Given the description of an element on the screen output the (x, y) to click on. 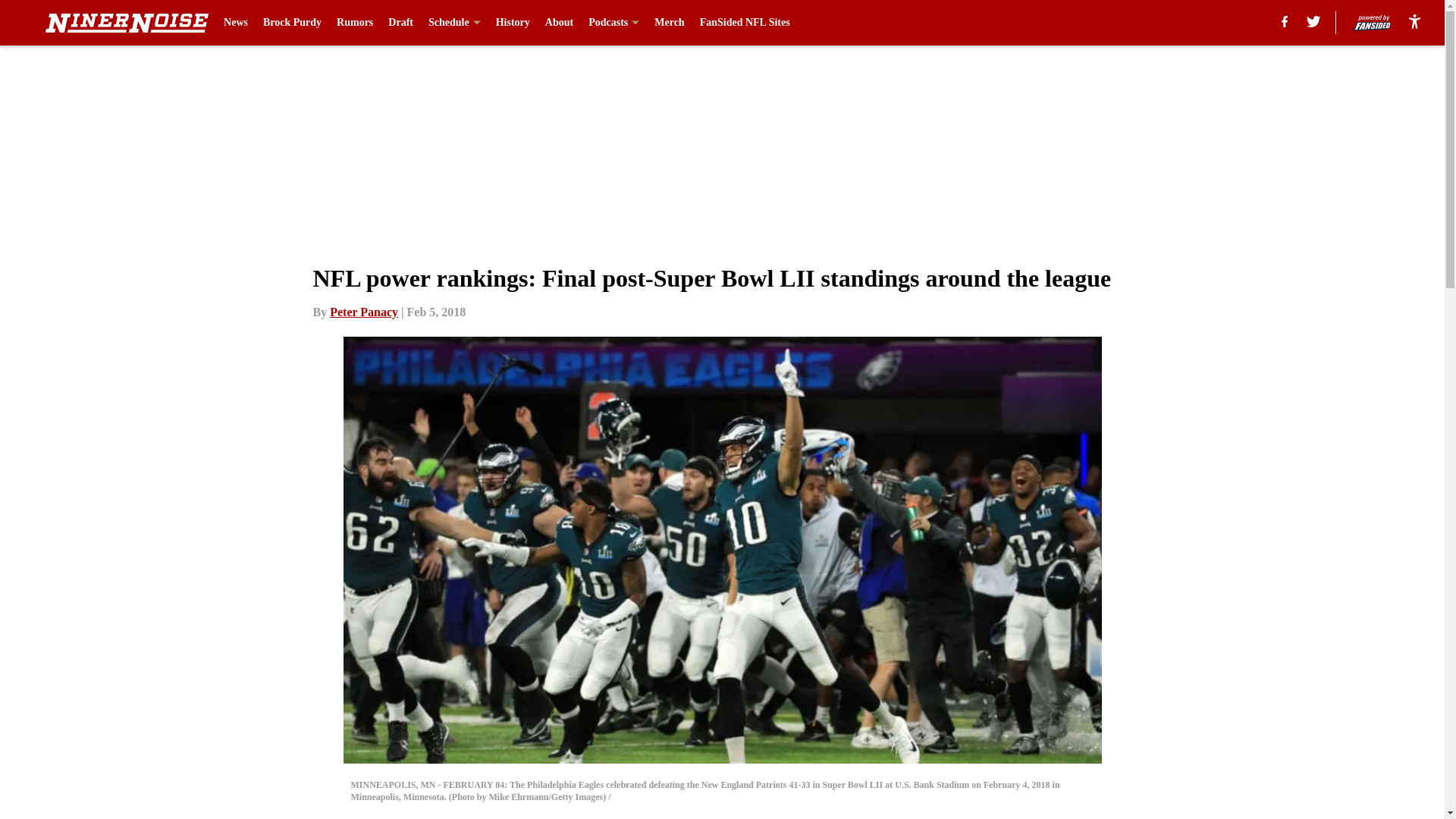
Draft (400, 22)
Rumors (354, 22)
Merch (668, 22)
About (558, 22)
FanSided NFL Sites (745, 22)
News (235, 22)
History (512, 22)
Brock Purdy (292, 22)
Peter Panacy (363, 311)
